Given the description of an element on the screen output the (x, y) to click on. 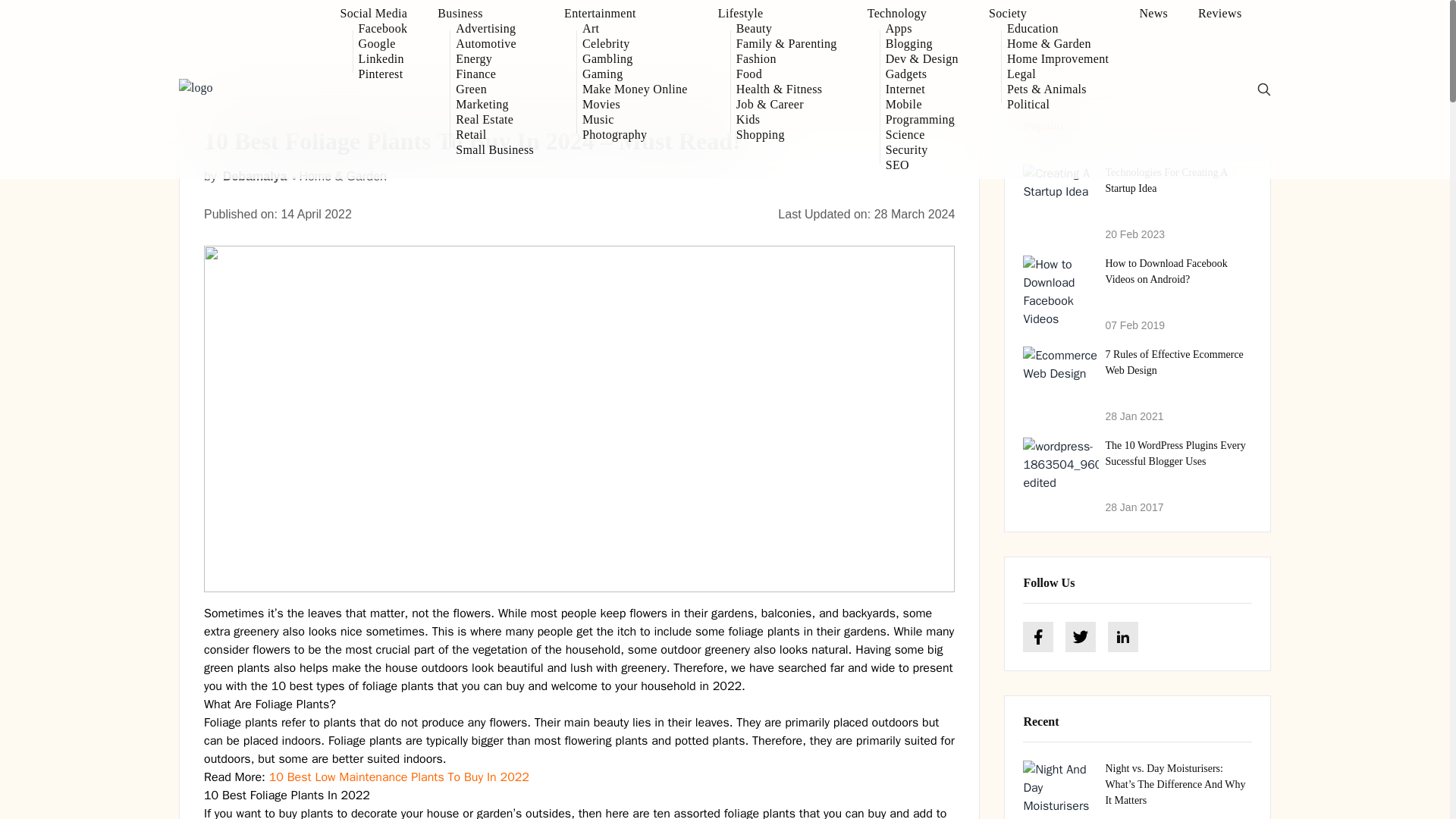
Retail (494, 134)
Pinterest (382, 73)
Technology (912, 13)
Food (786, 73)
Finance (494, 73)
Energy (494, 58)
Advertising (494, 28)
Celebrity (634, 43)
Blogging (921, 43)
Art (634, 28)
Facebook (382, 28)
Green (494, 89)
Gambling (634, 58)
Movies (634, 104)
Gadgets (921, 73)
